Given the description of an element on the screen output the (x, y) to click on. 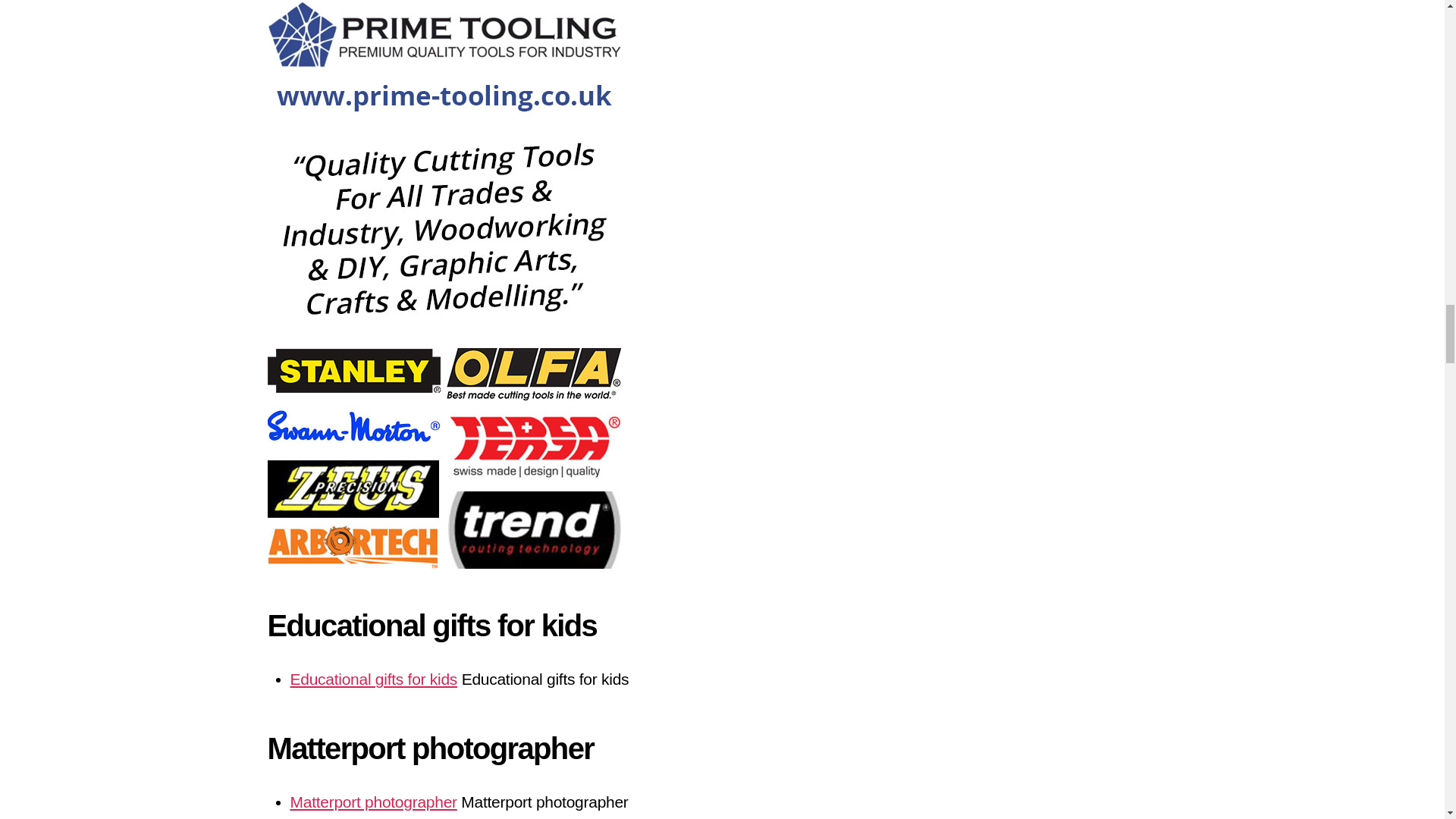
Matterport photographer (373, 801)
Matterport photographer (373, 801)
Educational gifts for kids (373, 678)
Educational gifts for kids (373, 678)
